Given the description of an element on the screen output the (x, y) to click on. 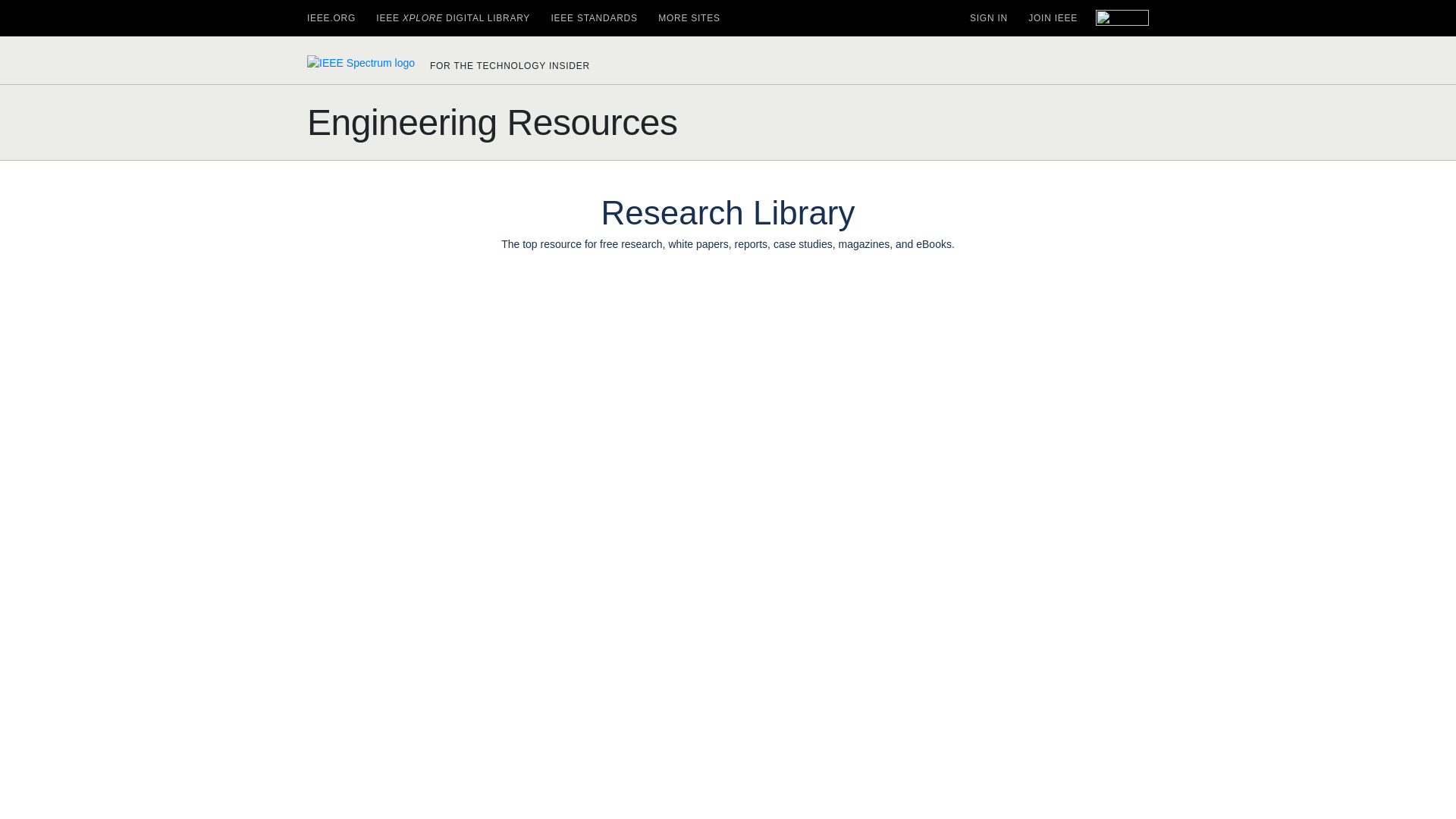
IEEE XPLORE DIGITAL LIBRARY (452, 18)
IEEE.ORG (331, 18)
IEEE STANDARDS (593, 18)
MORE SITES (689, 18)
SIGN IN (988, 18)
JOIN IEEE (1052, 18)
